Given the description of an element on the screen output the (x, y) to click on. 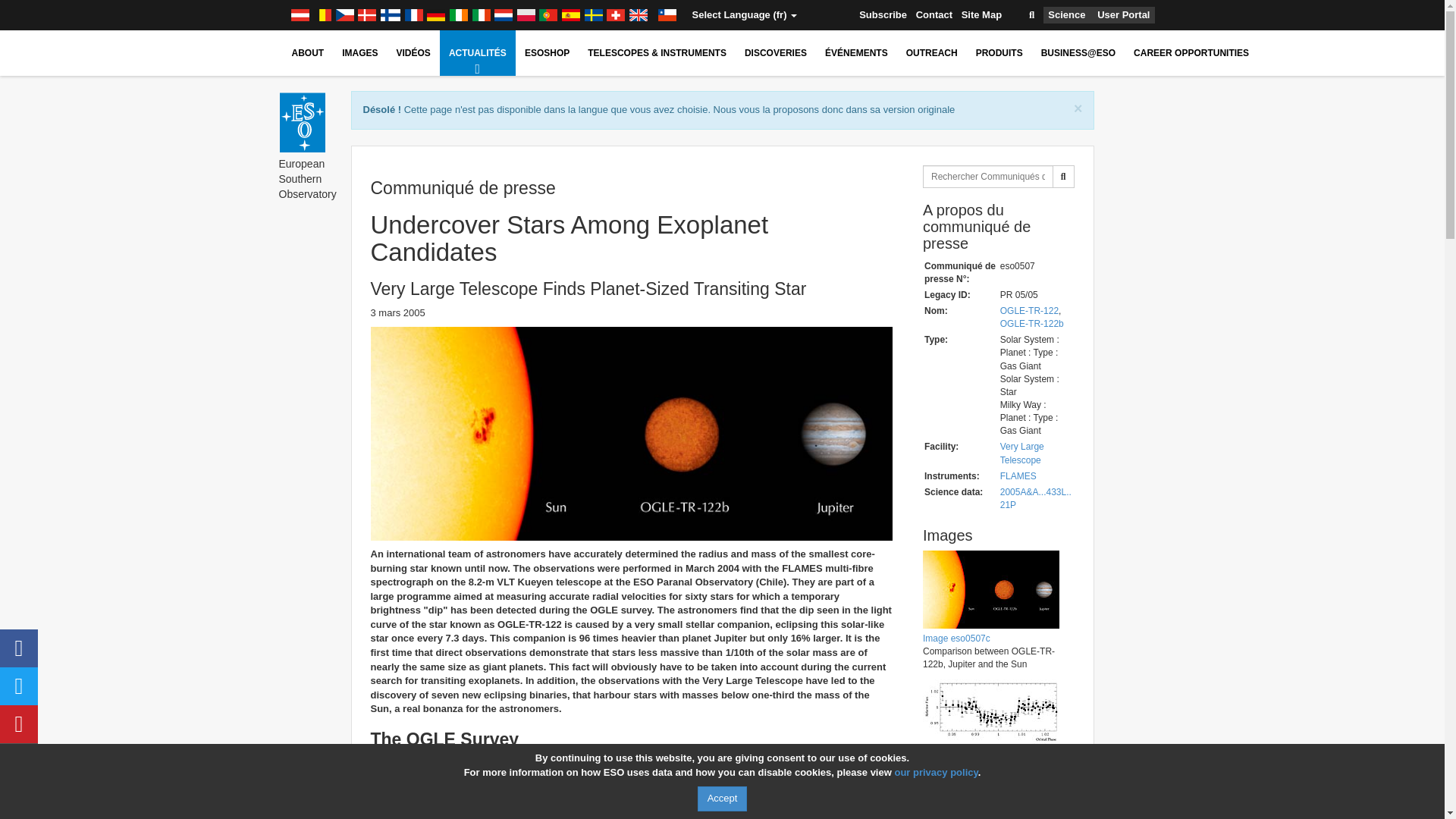
ABOUT (307, 53)
Subscribe (883, 15)
Accept (722, 798)
Denmark (366, 15)
Ireland (458, 15)
Belgium (322, 15)
France (413, 15)
Austria (298, 15)
Contact (933, 15)
our privacy policy (934, 772)
Italy (481, 15)
Netherlands (503, 15)
Poland (525, 15)
Germany (435, 15)
Spain (570, 15)
